Given the description of an element on the screen output the (x, y) to click on. 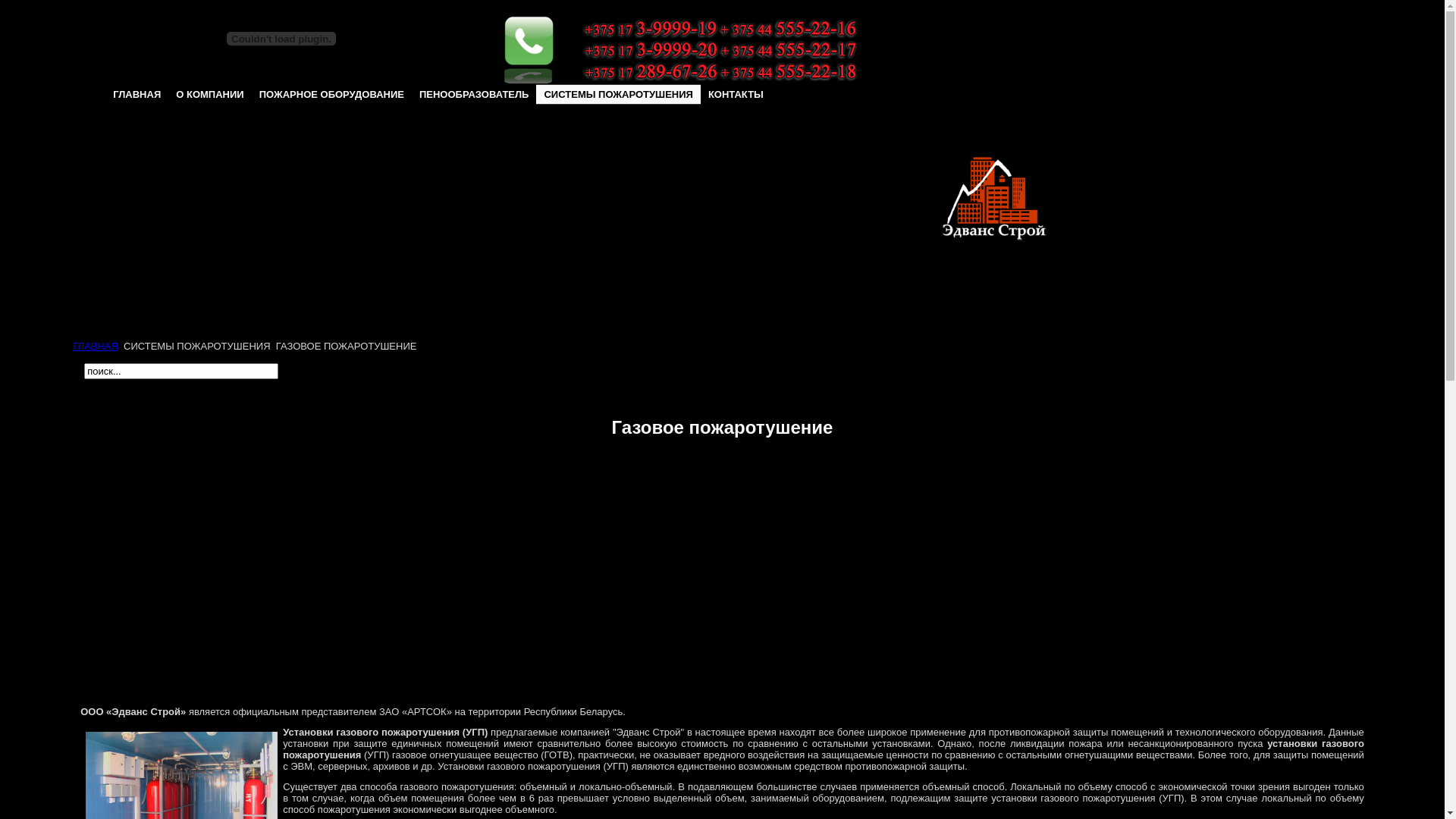
JoomlaWorks AllVideos Player Element type: hover (721, 582)
